Given the description of an element on the screen output the (x, y) to click on. 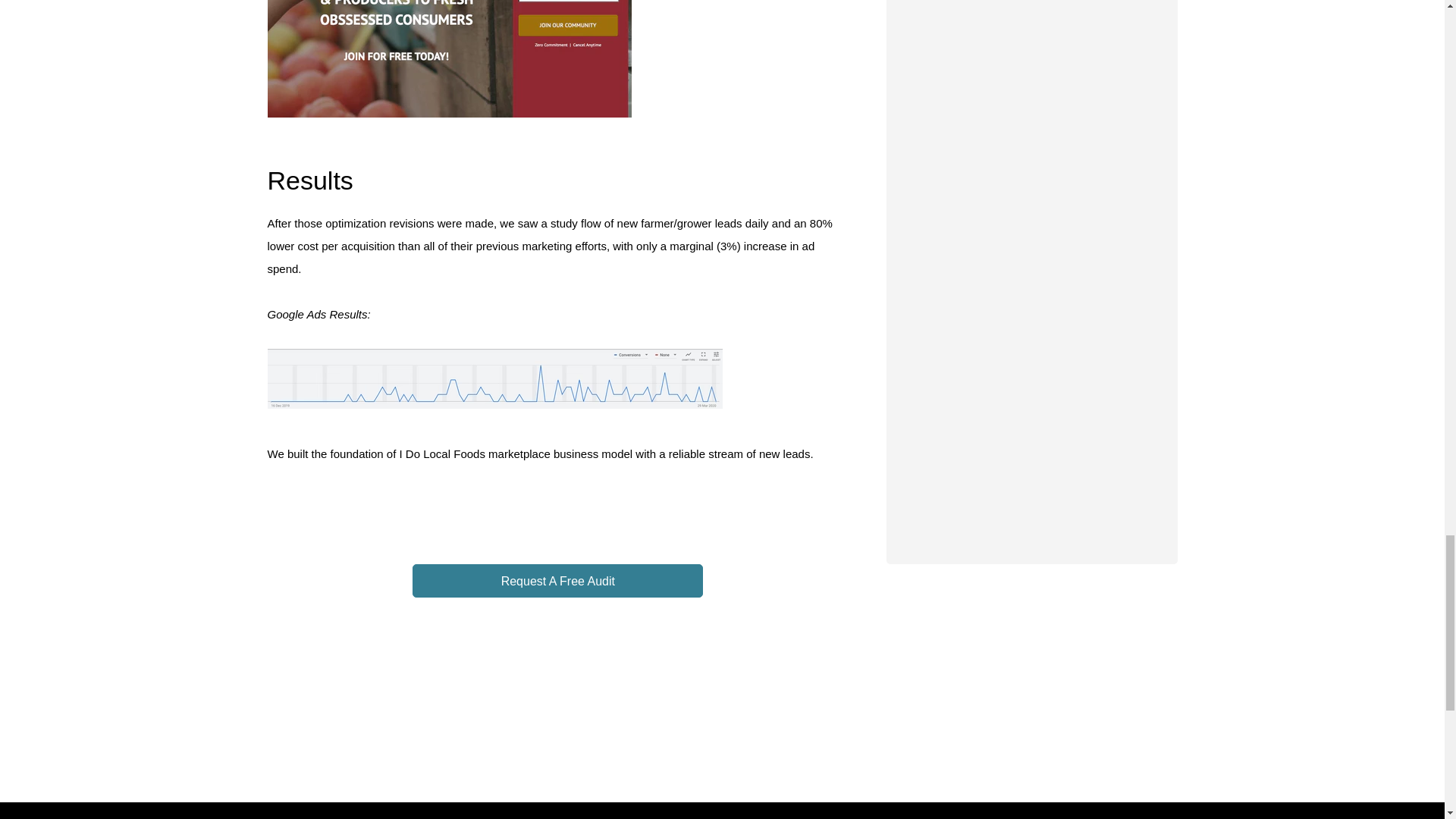
Request A Free Audit (557, 580)
